Given the description of an element on the screen output the (x, y) to click on. 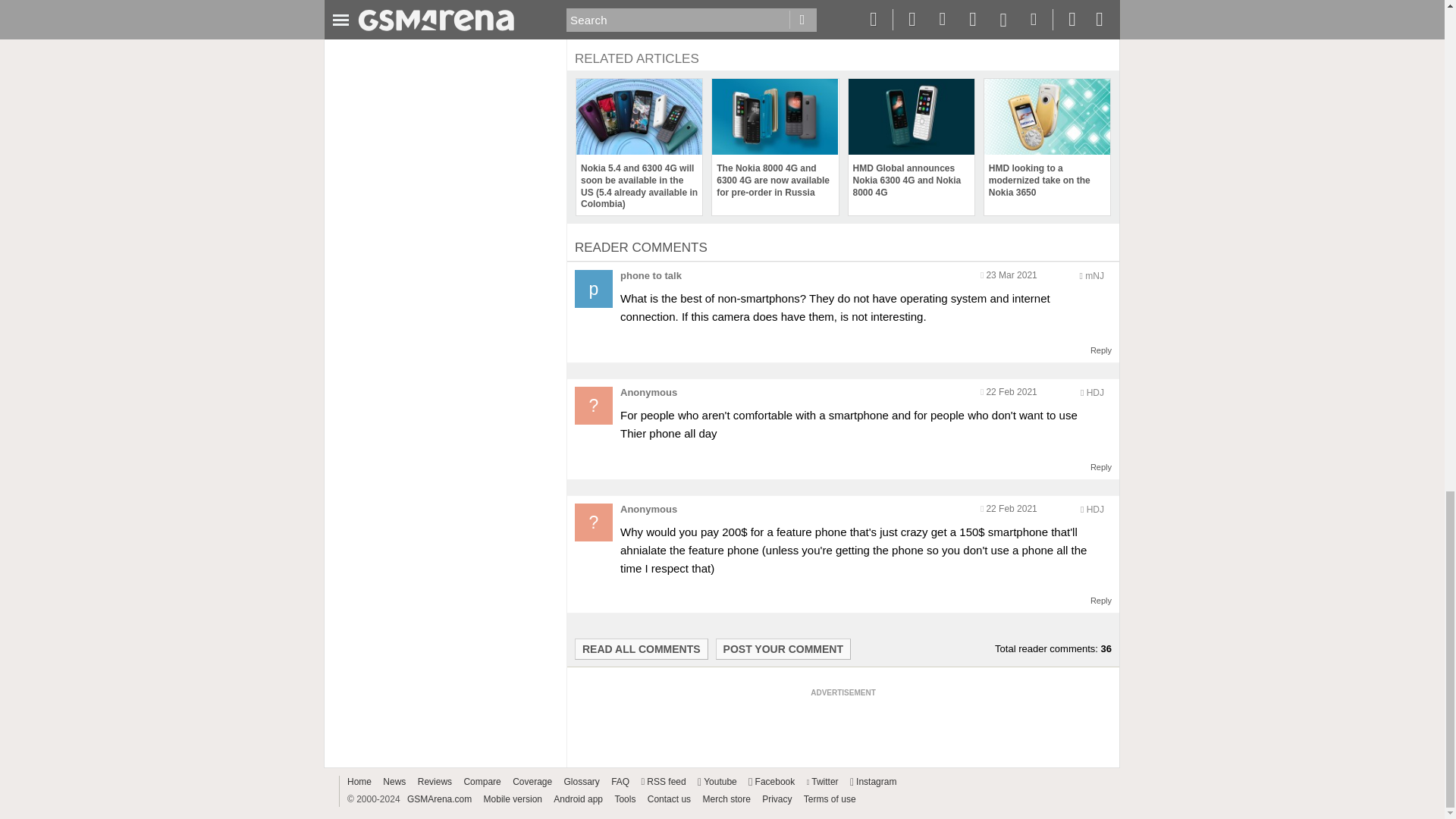
Reply to this post (1101, 600)
Reply to this post (1101, 466)
Reply to this post (1101, 349)
Encoded anonymized location (1093, 276)
Encoded anonymized location (1094, 392)
Encoded anonymized location (1094, 509)
